Given the description of an element on the screen output the (x, y) to click on. 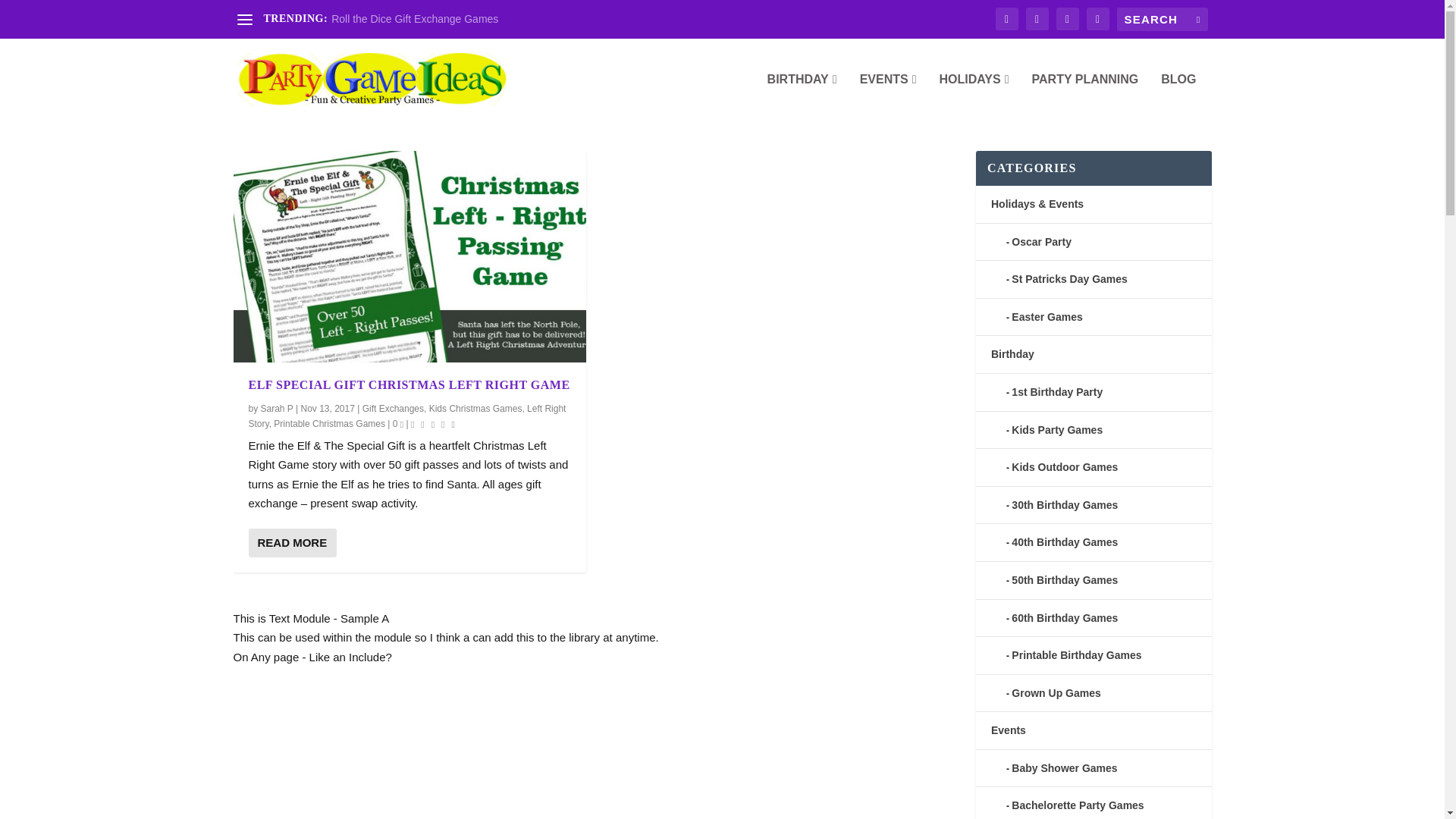
Search for: (1161, 19)
EVENTS (888, 96)
BIRTHDAY (802, 96)
Roll the Dice Gift Exchange Games (414, 19)
HOLIDAYS (974, 96)
Posts by Sarah P (277, 408)
Elf Special Gift Christmas Left Right Game (409, 256)
Rating: 4.00 (434, 423)
